Given the description of an element on the screen output the (x, y) to click on. 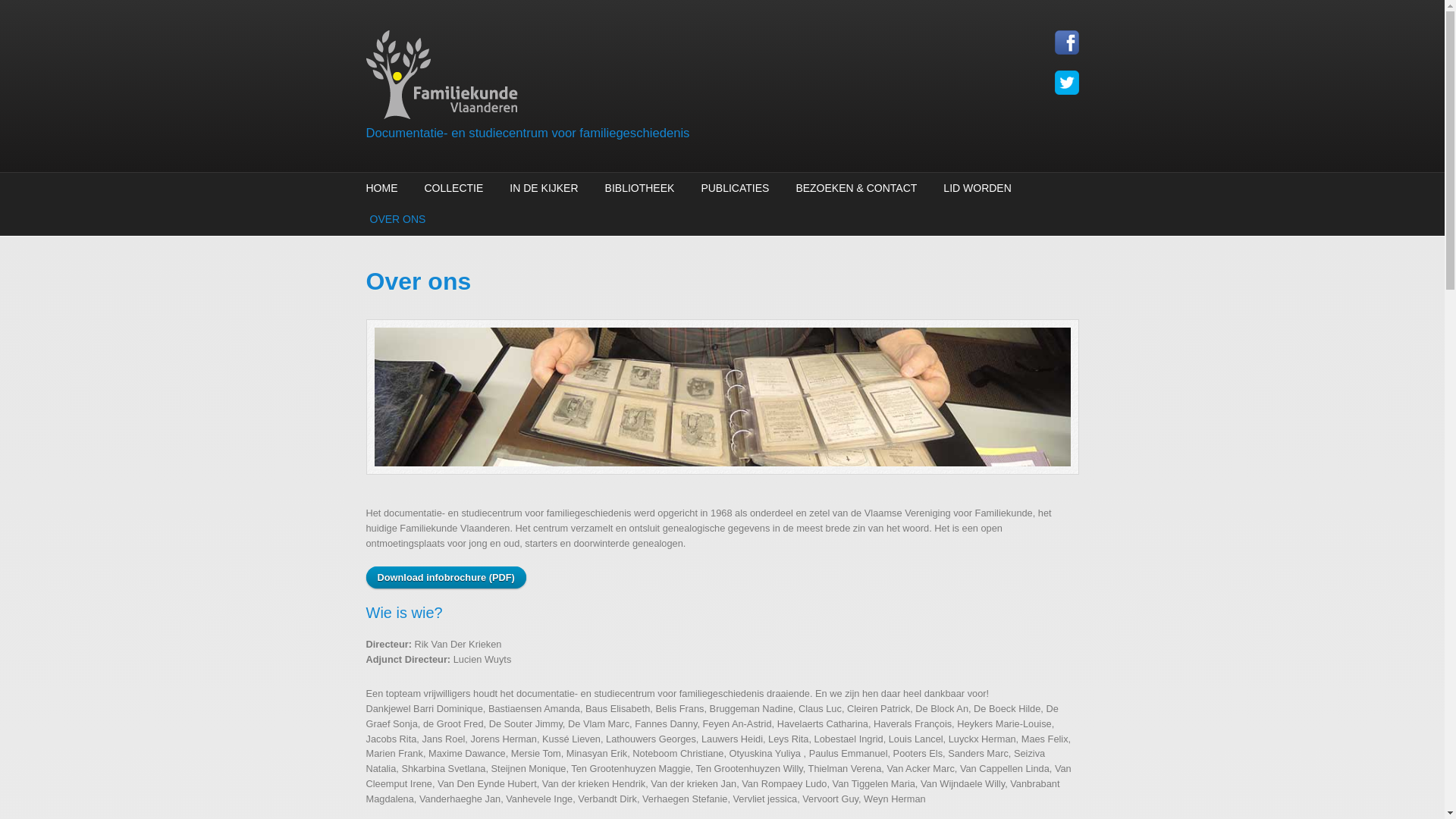
HOME Element type: text (383, 187)
IN DE KIJKER Element type: text (543, 187)
LID WORDEN Element type: text (976, 187)
PUBLICATIES Element type: text (734, 187)
COLLECTIE Element type: text (453, 187)
BEZOEKEN & CONTACT Element type: text (855, 187)
Documentatie- en studiecentrum voor familiegeschiedenis Element type: text (527, 132)
Overslaan en naar de inhoud gaan Element type: text (74, 0)
Download infobrochure (PDF) Element type: text (445, 577)
BIBLIOTHEEK Element type: text (639, 187)
Home Element type: hover (600, 77)
OVER ONS Element type: text (395, 219)
